Given the description of an element on the screen output the (x, y) to click on. 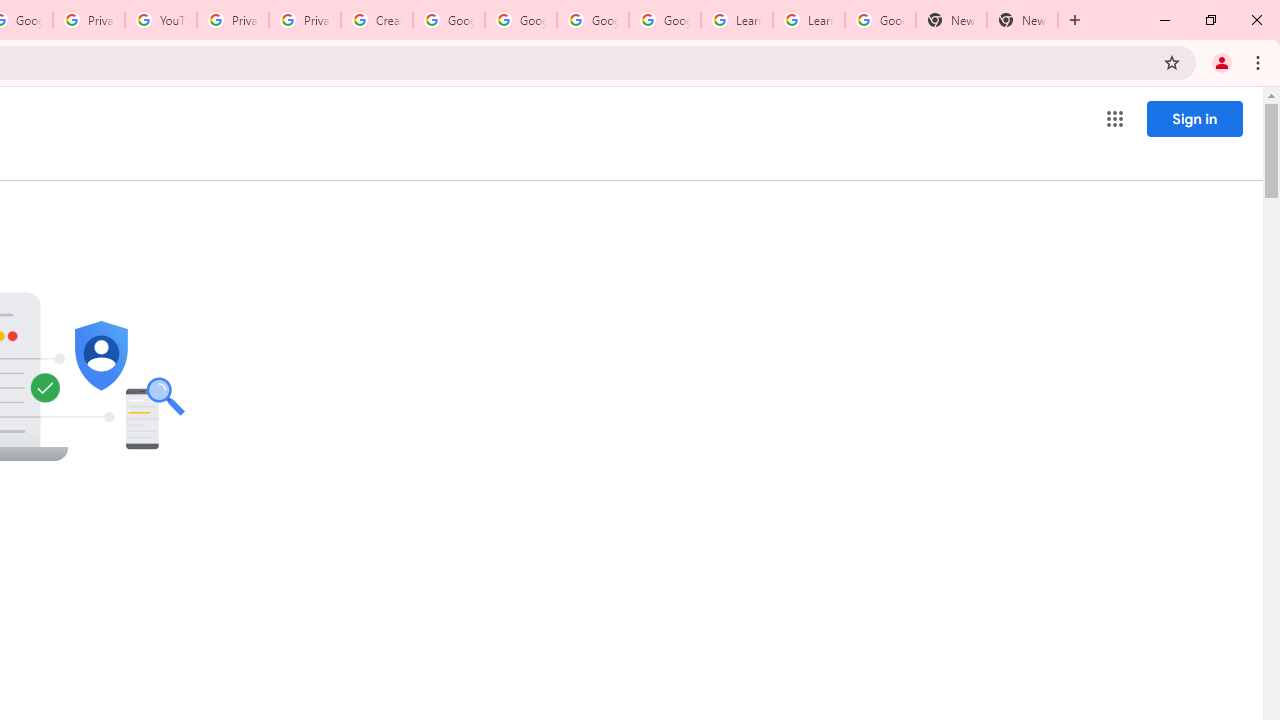
Sign in (1194, 118)
Google Account (880, 20)
Google Account Help (592, 20)
New Tab (951, 20)
Google Account Help (664, 20)
Google Account Help (520, 20)
New Tab (1022, 20)
Google apps (1114, 118)
Google Account Help (449, 20)
